Given the description of an element on the screen output the (x, y) to click on. 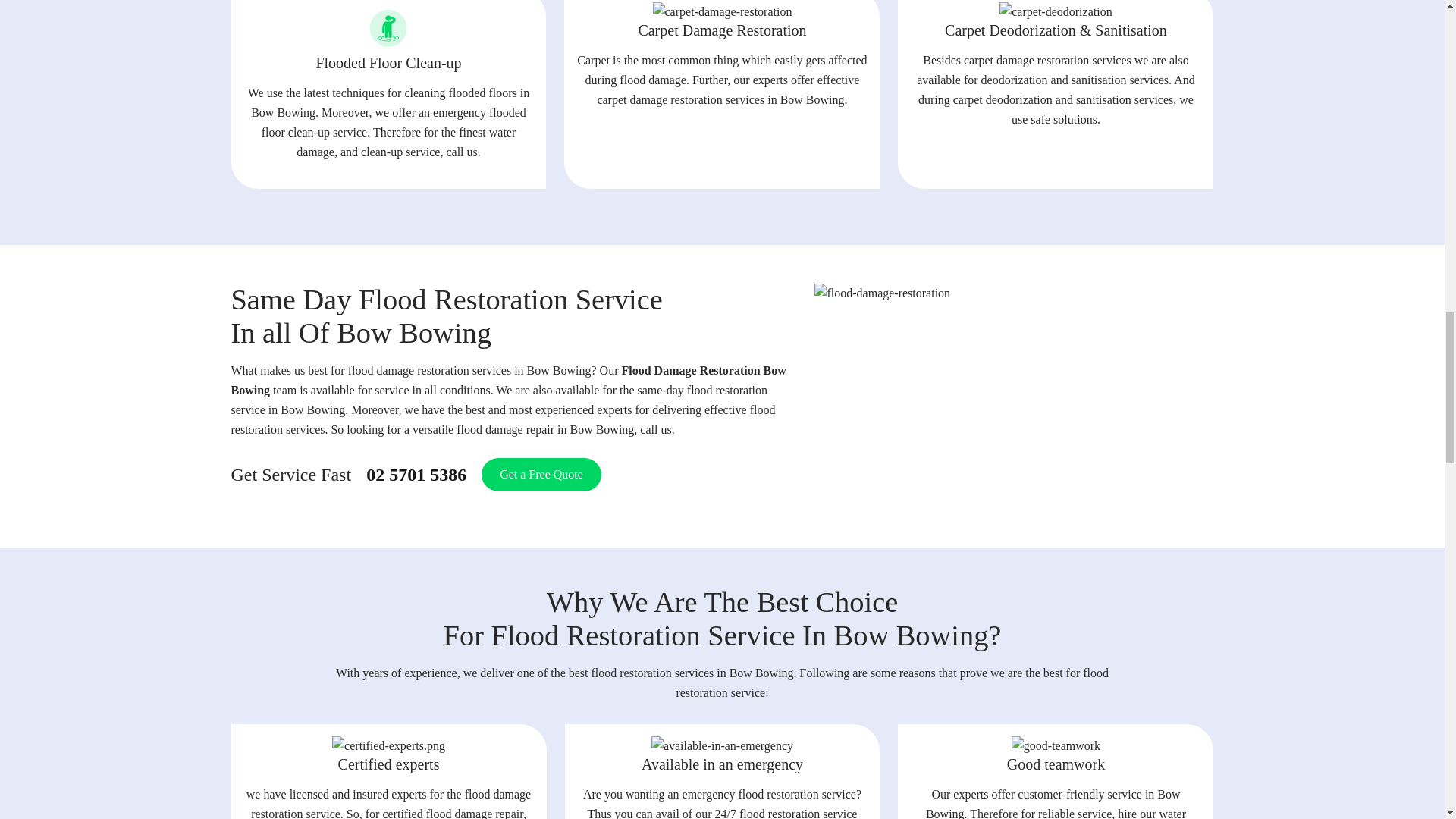
02 5701 5386 (415, 473)
Get a Free Quote (541, 474)
